Given the description of an element on the screen output the (x, y) to click on. 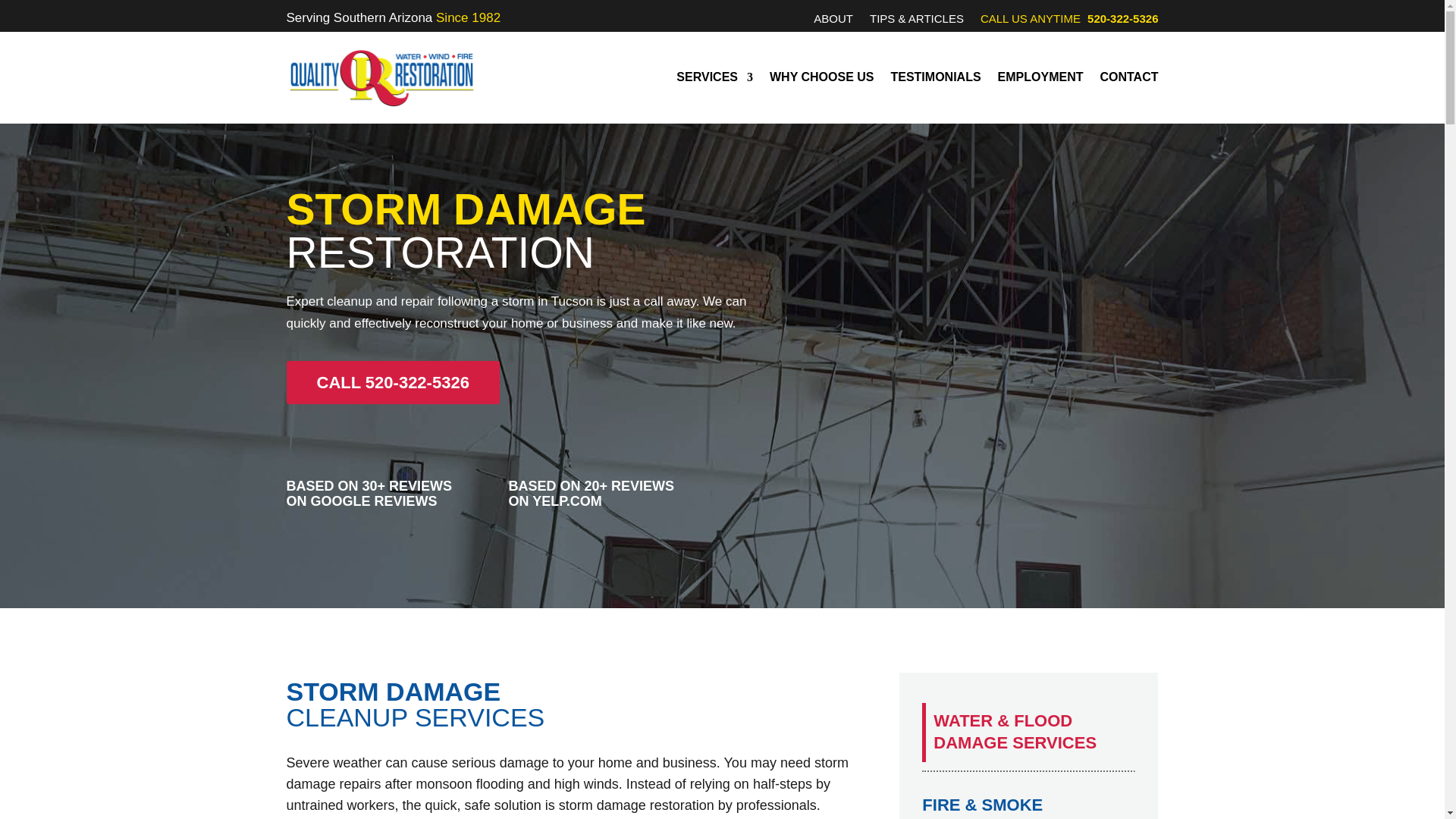
TESTIMONIALS (934, 77)
ABOUT (833, 21)
CONTACT (1128, 77)
CALL 520-322-5326 (392, 382)
SERVICES (714, 77)
CALL US ANYTIME 520-322-5326 (1068, 21)
EMPLOYMENT (1040, 77)
WHY CHOOSE US (822, 77)
